Given the description of an element on the screen output the (x, y) to click on. 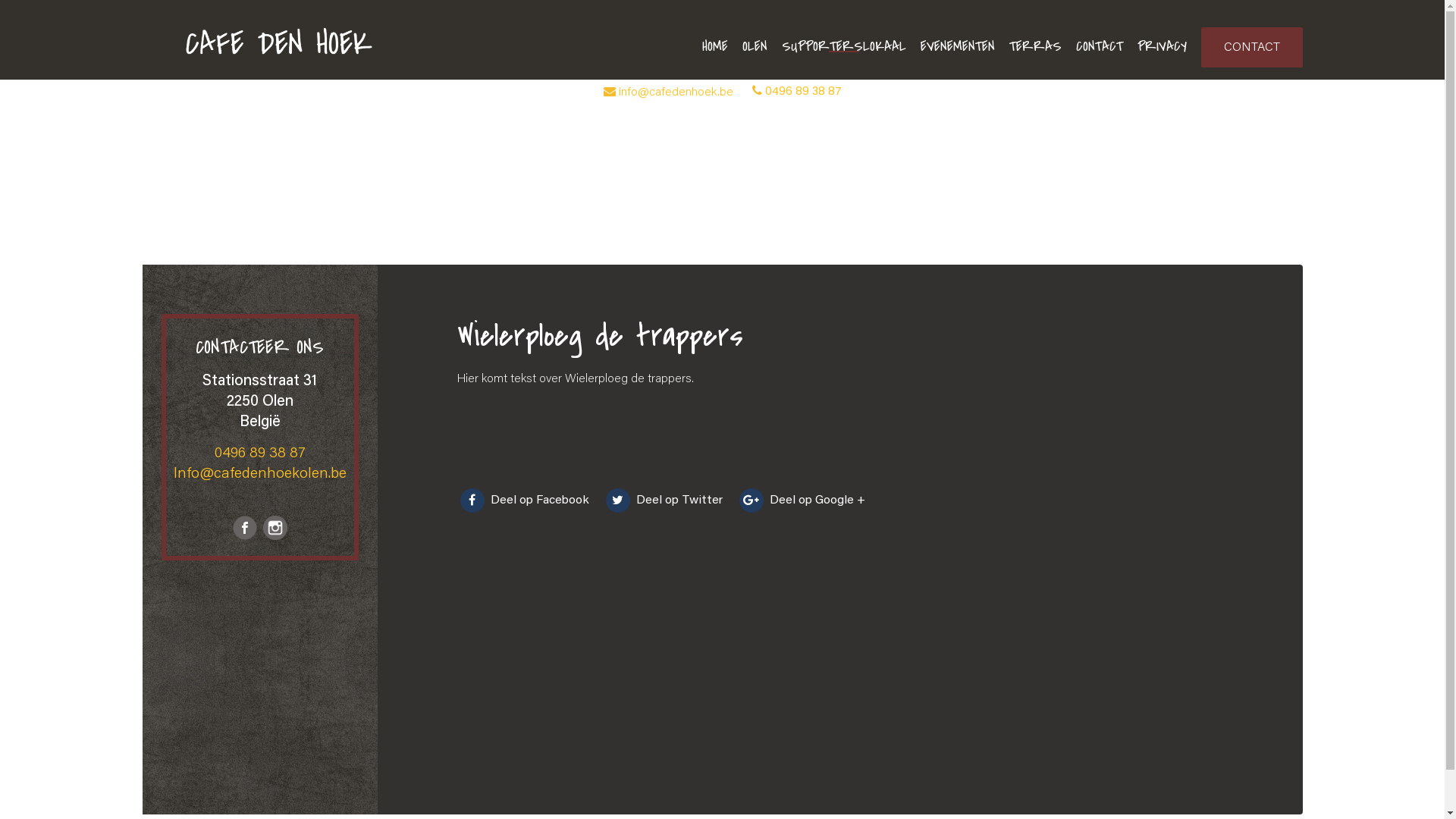
HOME Element type: text (715, 45)
CONTACT Element type: text (1251, 47)
Deel op Facebook Element type: text (523, 500)
PRIVACY Element type: text (1161, 45)
info@cafedenhoek.be Element type: text (675, 92)
Deel op Google + Element type: text (801, 500)
CONTACT Element type: text (1098, 45)
TERRAS Element type: text (1034, 45)
SUPPORTERSLOKAAL Element type: text (843, 45)
0496 89 38 87 Element type: text (802, 91)
EVENEMENTEN Element type: text (957, 45)
0496 89 38 87 Element type: text (258, 453)
Deel op Twitter Element type: text (663, 500)
Info@cafedenhoekolen.be Element type: text (258, 473)
OLEN Element type: text (753, 45)
